Given the description of an element on the screen output the (x, y) to click on. 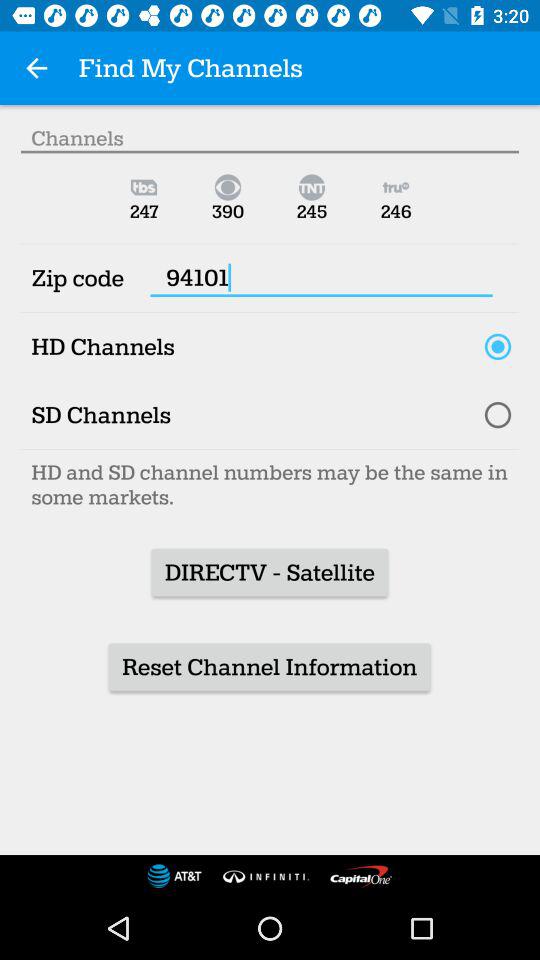
select option (498, 415)
